Given the description of an element on the screen output the (x, y) to click on. 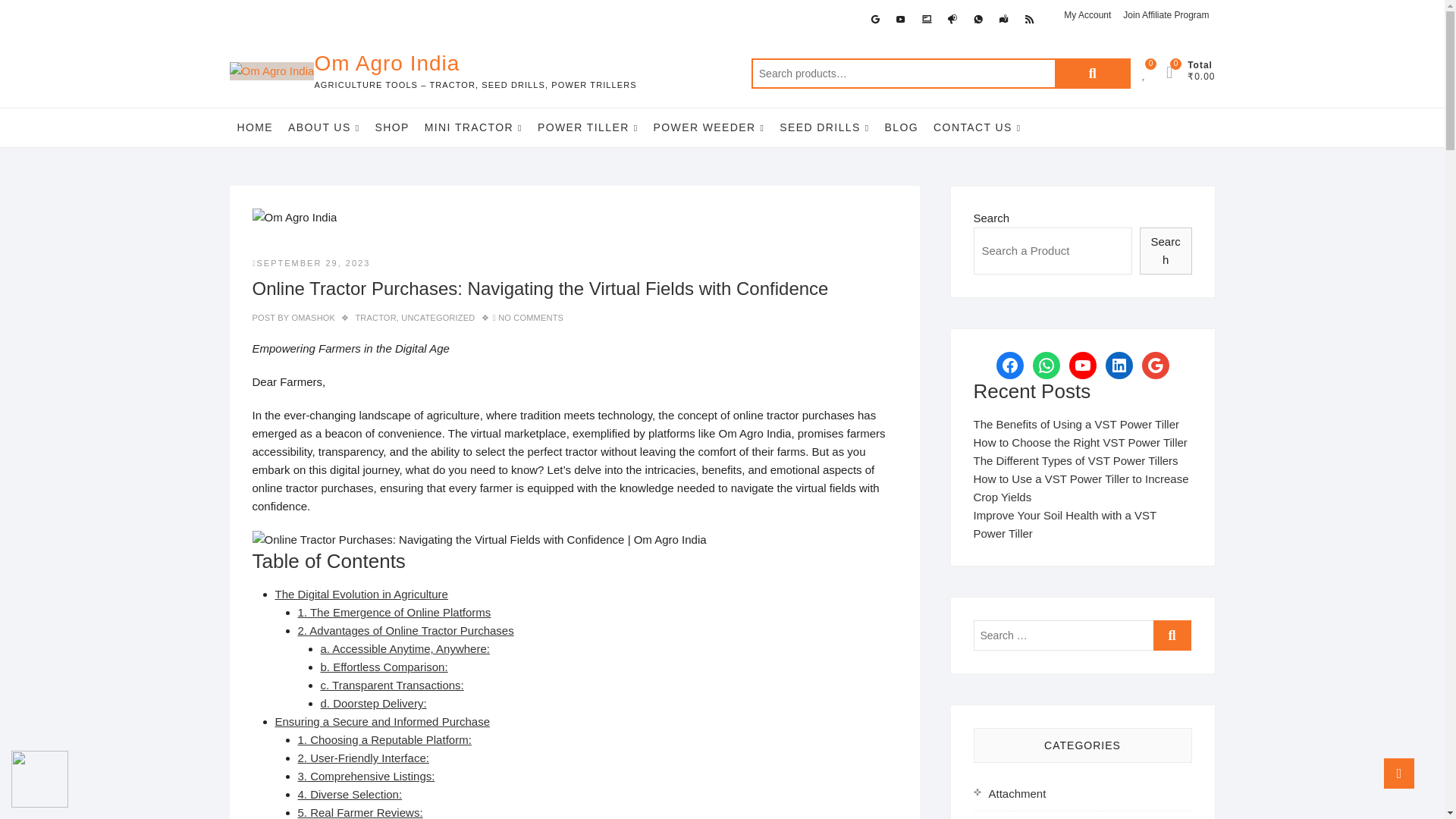
SHOP (391, 127)
Om Agro India (475, 63)
Join Affiliate Program (1165, 15)
MINI TRACTOR (472, 127)
12:25 pm (310, 262)
HOME (254, 127)
0 (1177, 72)
0 (1151, 72)
POWER WEEDER (709, 127)
POWER TILLER (587, 127)
Search (1092, 73)
